Given the description of an element on the screen output the (x, y) to click on. 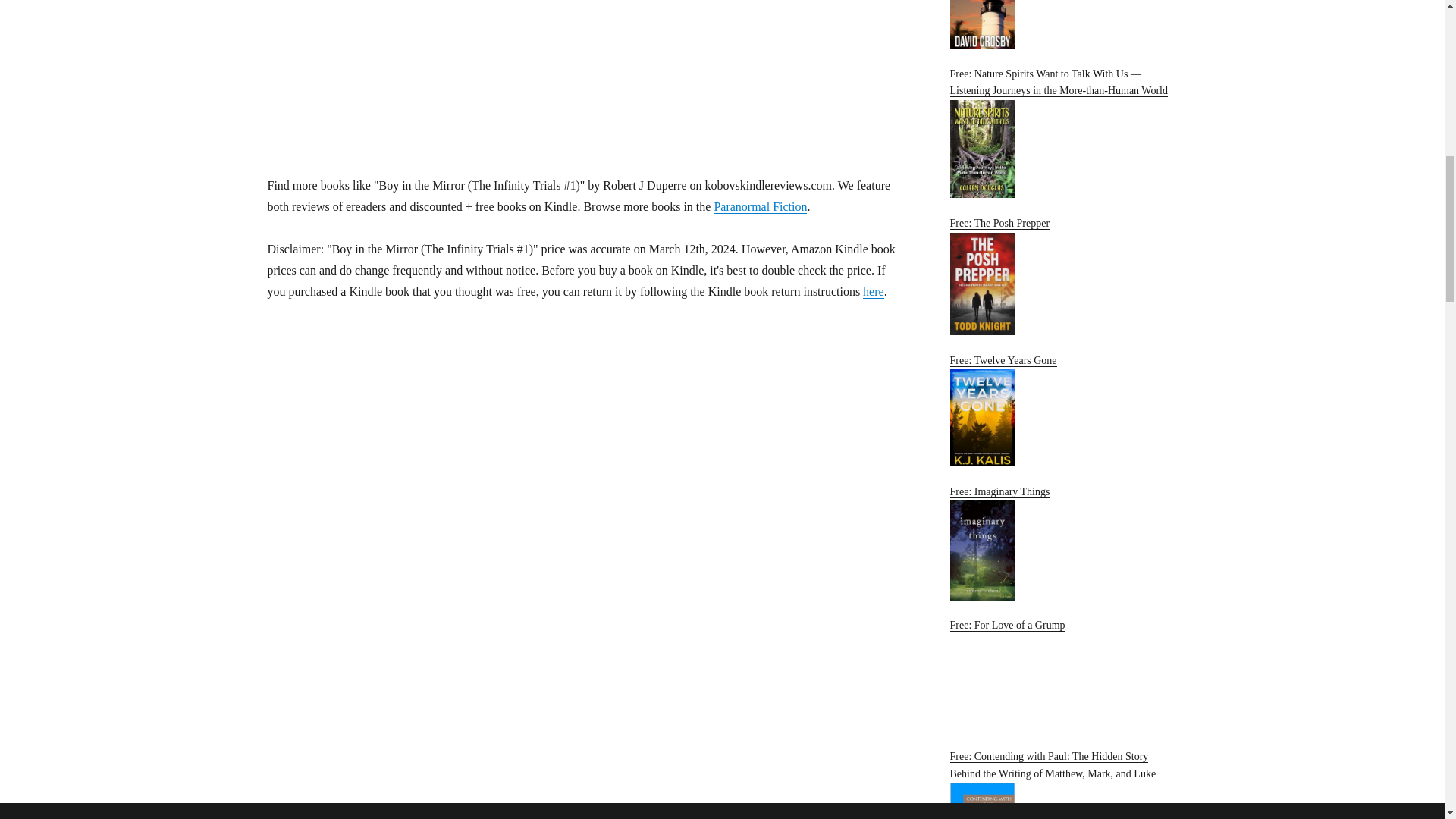
here (873, 291)
Free: Imaginary Things (1062, 543)
Free: The Posh Prepper (1062, 275)
Paranormal Fiction (759, 205)
Free: Twelve Years Gone (1062, 410)
Free: For Love of a Grump (1062, 675)
